Given the description of an element on the screen output the (x, y) to click on. 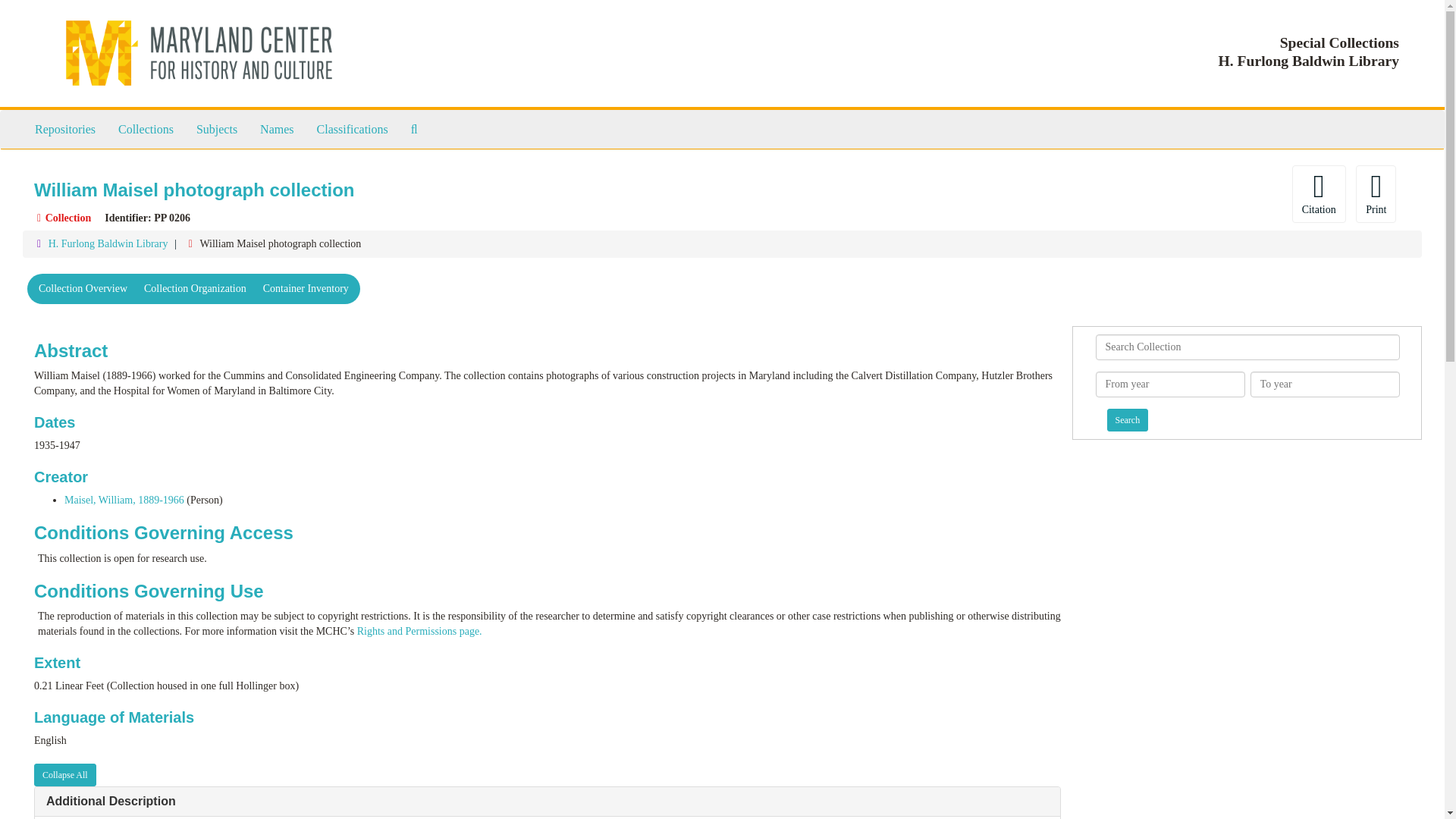
Search (1127, 419)
Page Actions (1130, 193)
Subjects (216, 129)
Names (276, 129)
Search (1127, 419)
Repositories (64, 129)
Container Inventory (305, 288)
Collapse All (64, 774)
Collection Organization (194, 288)
Additional Description (111, 800)
